Given the description of an element on the screen output the (x, y) to click on. 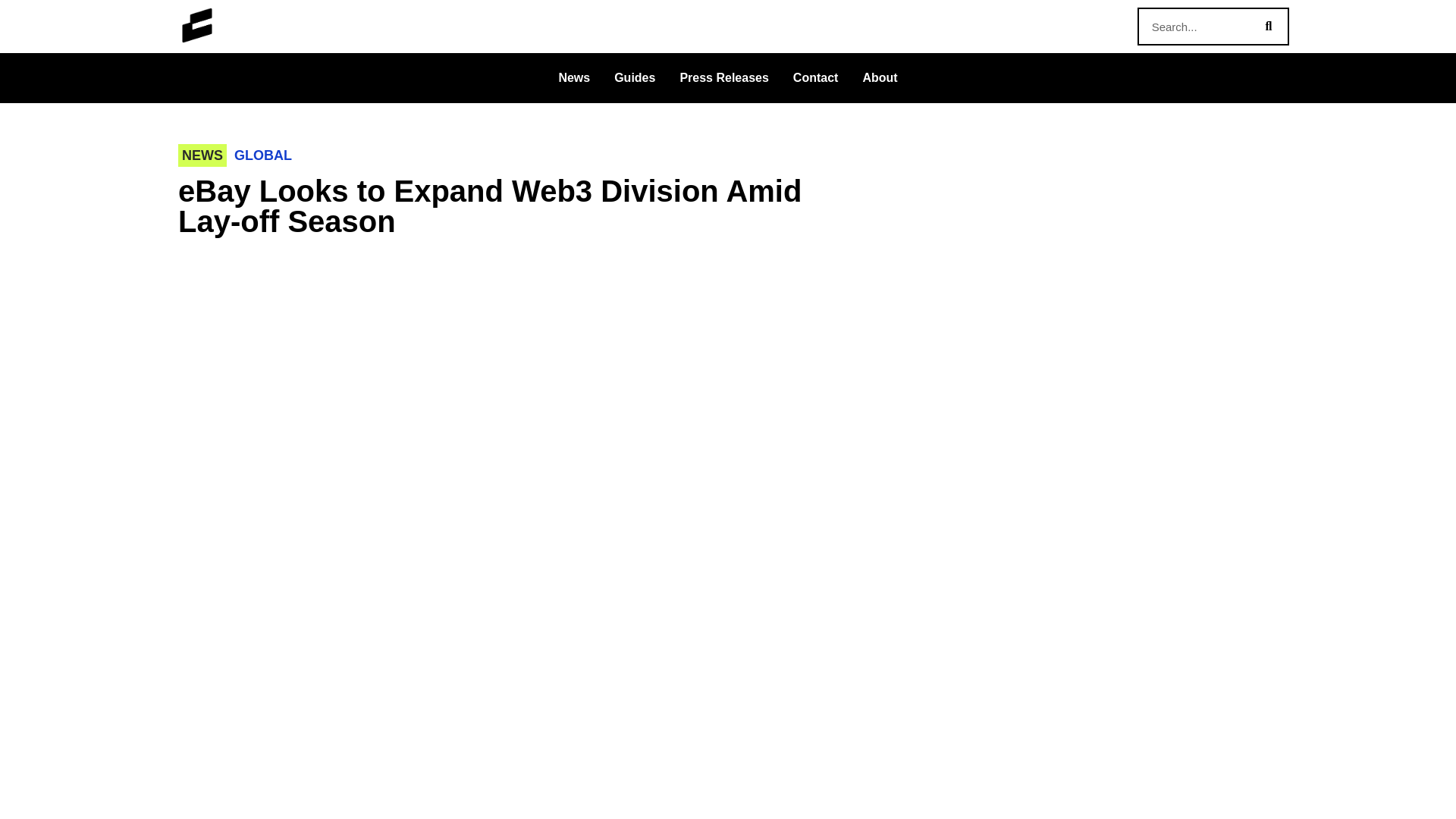
Guides (634, 77)
News (574, 77)
NEWS (202, 155)
Press Releases (723, 77)
About (879, 77)
Contact (815, 77)
GLOBAL (262, 155)
